Given the description of an element on the screen output the (x, y) to click on. 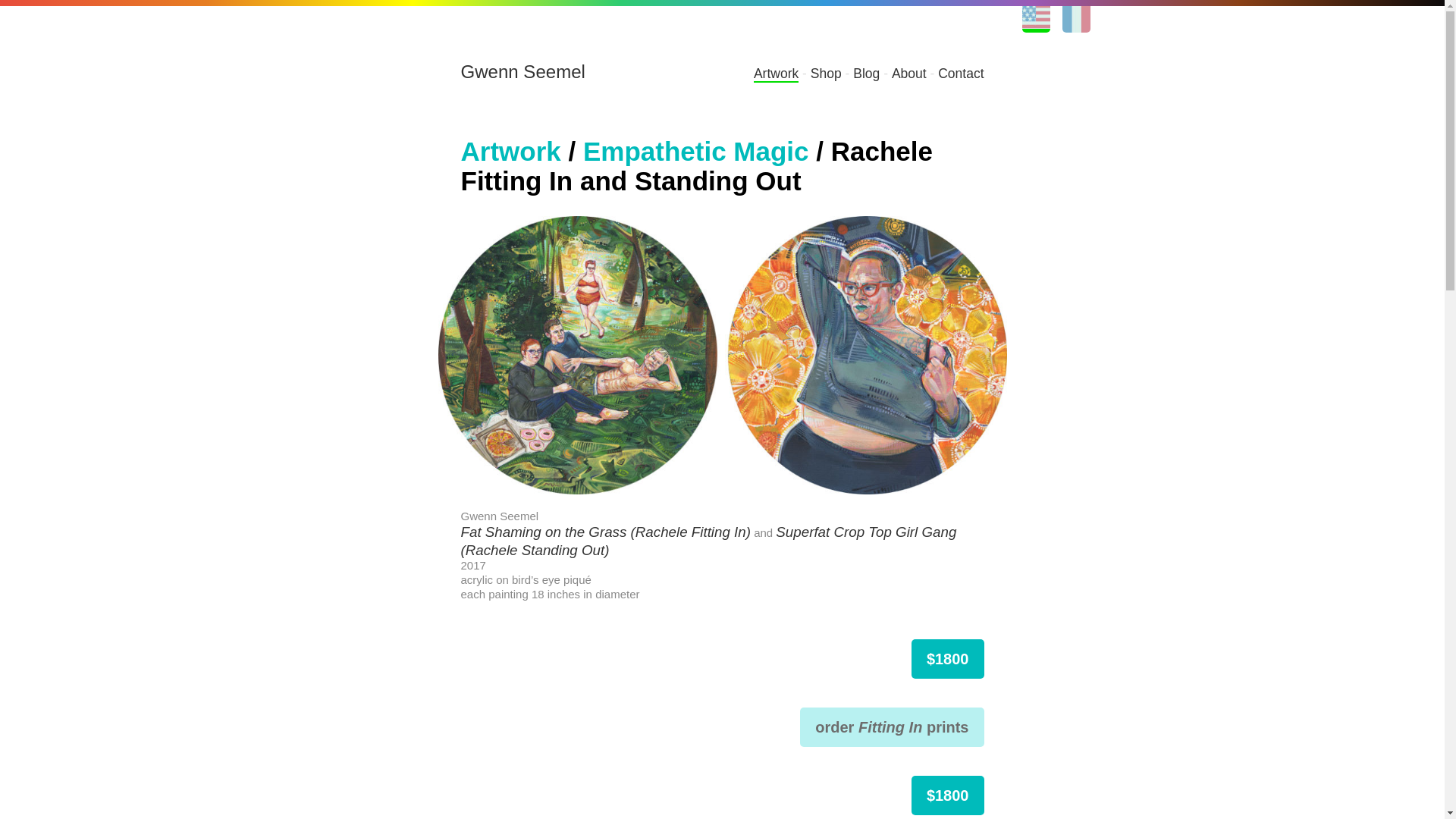
Artwork (510, 151)
Gwenn Seemel (523, 71)
